Given the description of an element on the screen output the (x, y) to click on. 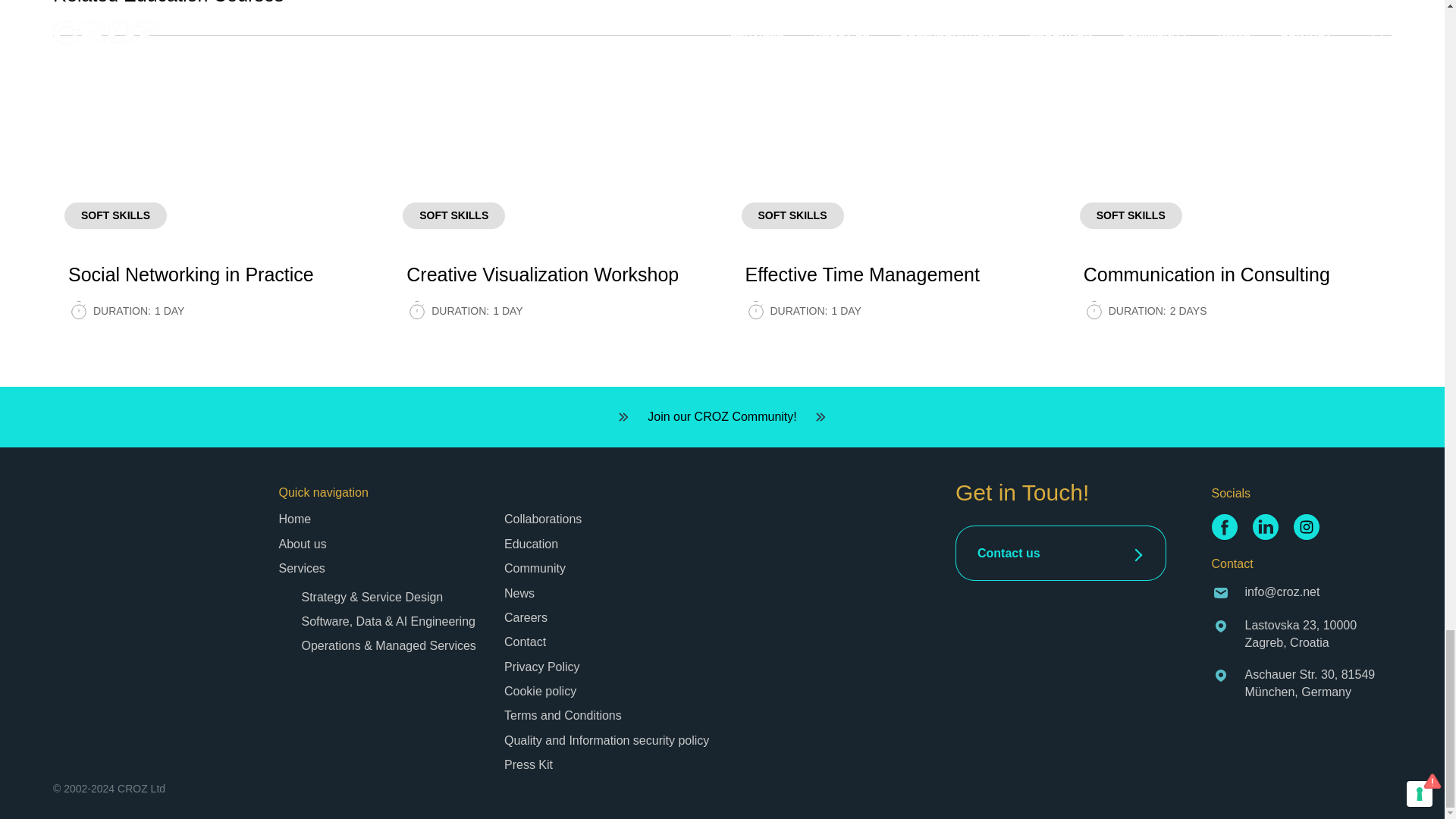
Services (552, 203)
About us (890, 203)
Community (301, 567)
Education (302, 543)
Join our CROZ Community! (534, 567)
Collaborations (530, 543)
Home (721, 417)
